Given the description of an element on the screen output the (x, y) to click on. 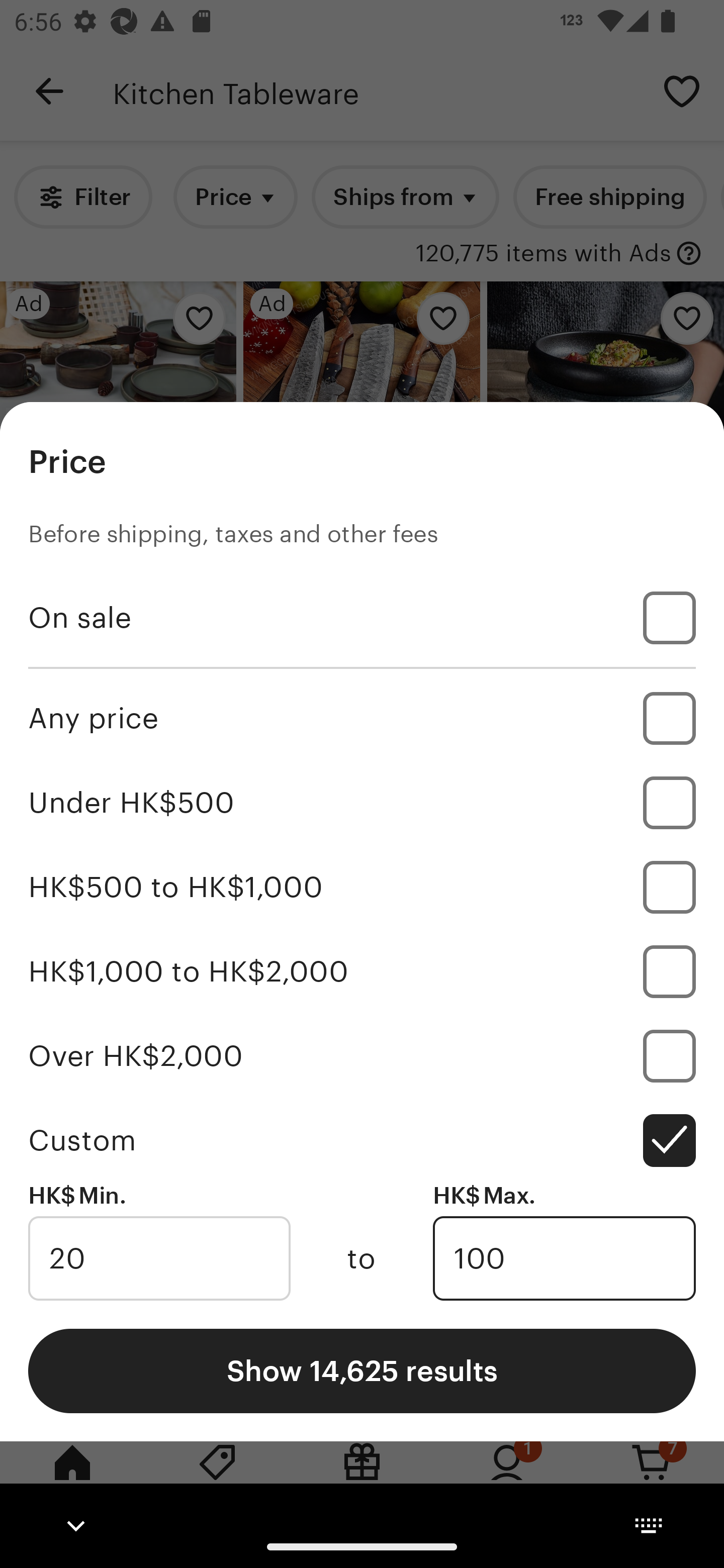
On sale (362, 617)
Any price (362, 717)
Under HK$500 (362, 802)
HK$500 to HK$1,000 (362, 887)
HK$1,000 to HK$2,000 (362, 970)
Over HK$2,000 (362, 1054)
Custom (362, 1139)
20 (159, 1257)
100 (563, 1257)
Show 14,625 results (361, 1370)
